Given the description of an element on the screen output the (x, y) to click on. 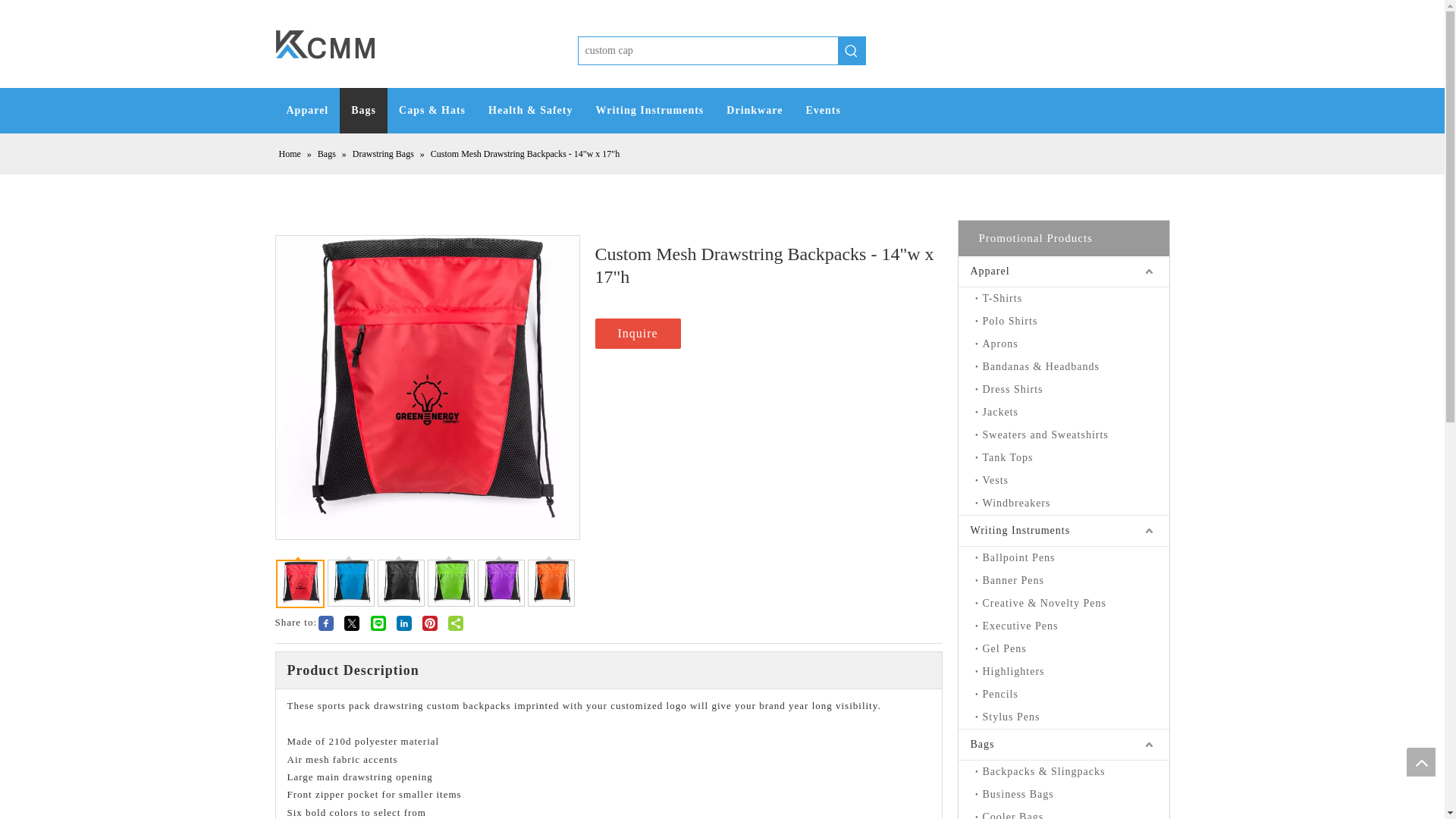
Aprons (1072, 343)
Sweaters and Sweatshirts (1072, 435)
Tank Tops (1072, 457)
Bags (363, 110)
Ballpoint Pens (1072, 558)
Jackets (1072, 412)
Writing Instruments (1063, 531)
T-Shirts (1072, 298)
Polo Shirts (1072, 321)
Writing Instruments (648, 110)
Apparel (307, 110)
Dress Shirts (1072, 389)
Apparel (1063, 271)
kcmm (325, 43)
Windbreakers (1072, 503)
